Given the description of an element on the screen output the (x, y) to click on. 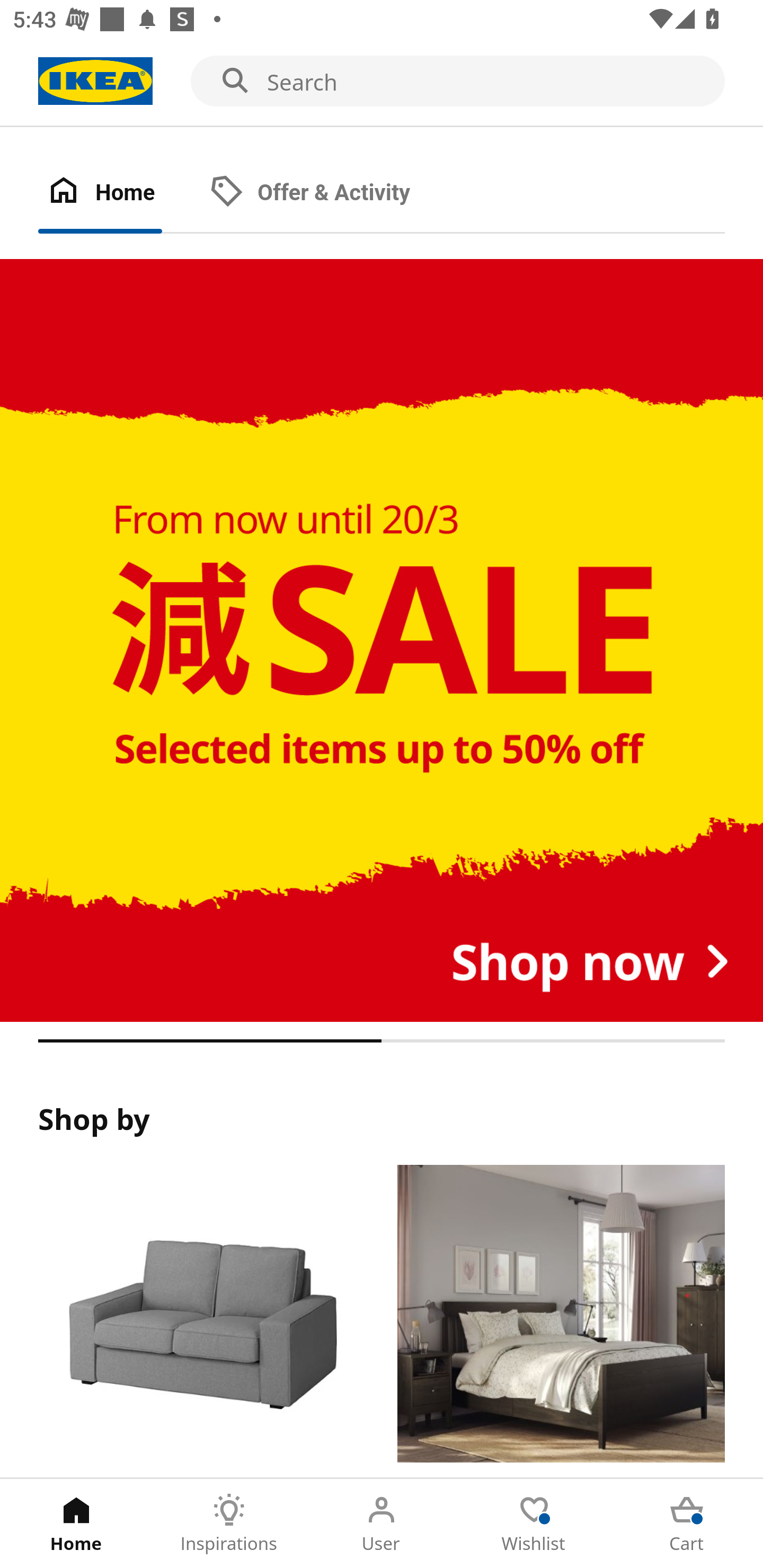
Search (381, 81)
Home
Tab 1 of 2 (118, 192)
Offer & Activity
Tab 2 of 2 (327, 192)
Products (201, 1321)
Rooms (560, 1321)
Home
Tab 1 of 5 (76, 1522)
Inspirations
Tab 2 of 5 (228, 1522)
User
Tab 3 of 5 (381, 1522)
Wishlist
Tab 4 of 5 (533, 1522)
Cart
Tab 5 of 5 (686, 1522)
